Given the description of an element on the screen output the (x, y) to click on. 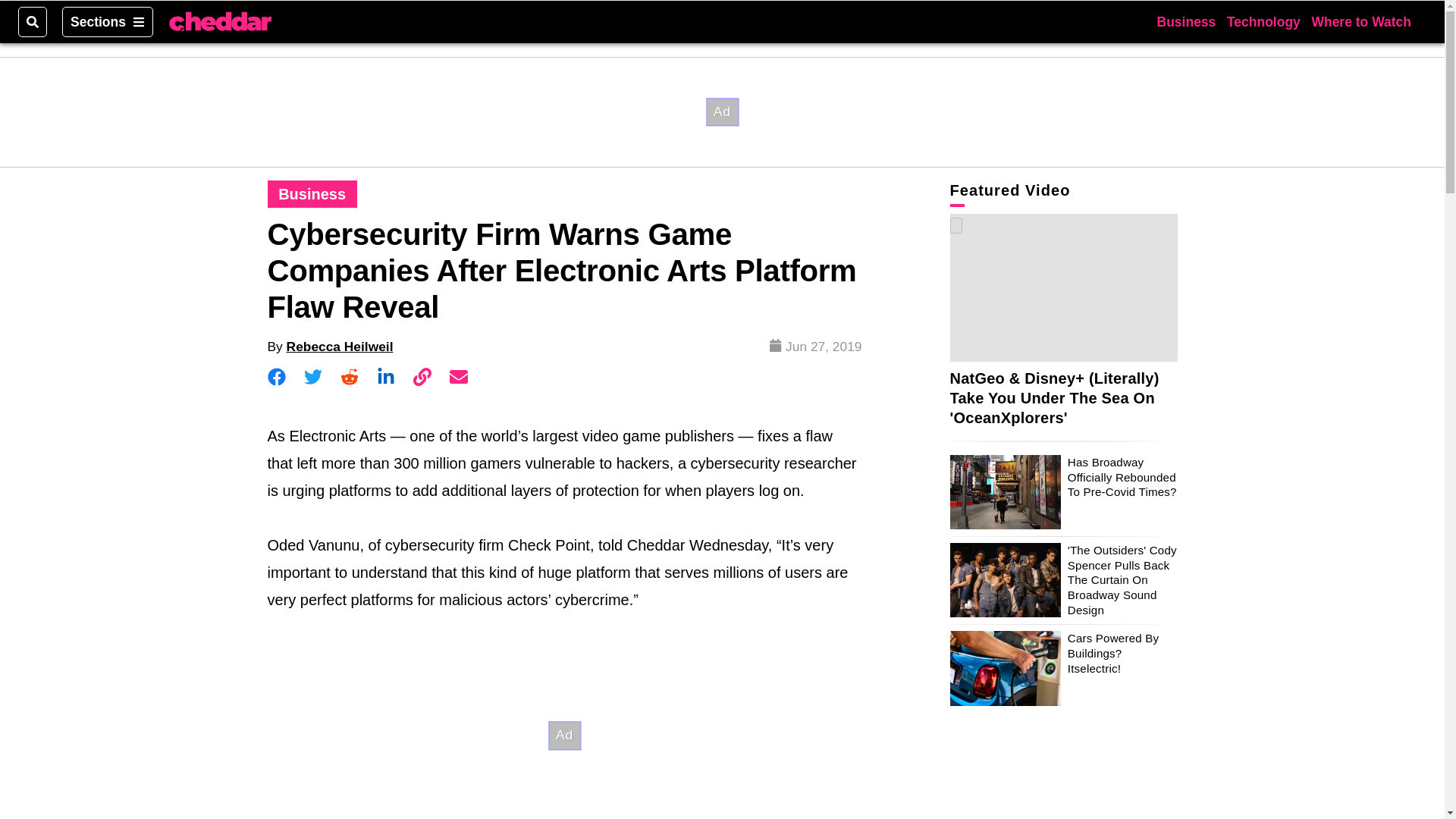
Rebecca Heilweil (339, 346)
Cheddar Logo (220, 21)
Business (312, 193)
Has Broadway Officially Rebounded To Pre-Covid Times? (1121, 476)
3rd party ad content (563, 729)
3rd party ad content (721, 111)
Sections (107, 21)
Where to Watch (1360, 21)
Technology (1263, 21)
Business (1186, 21)
